Given the description of an element on the screen output the (x, y) to click on. 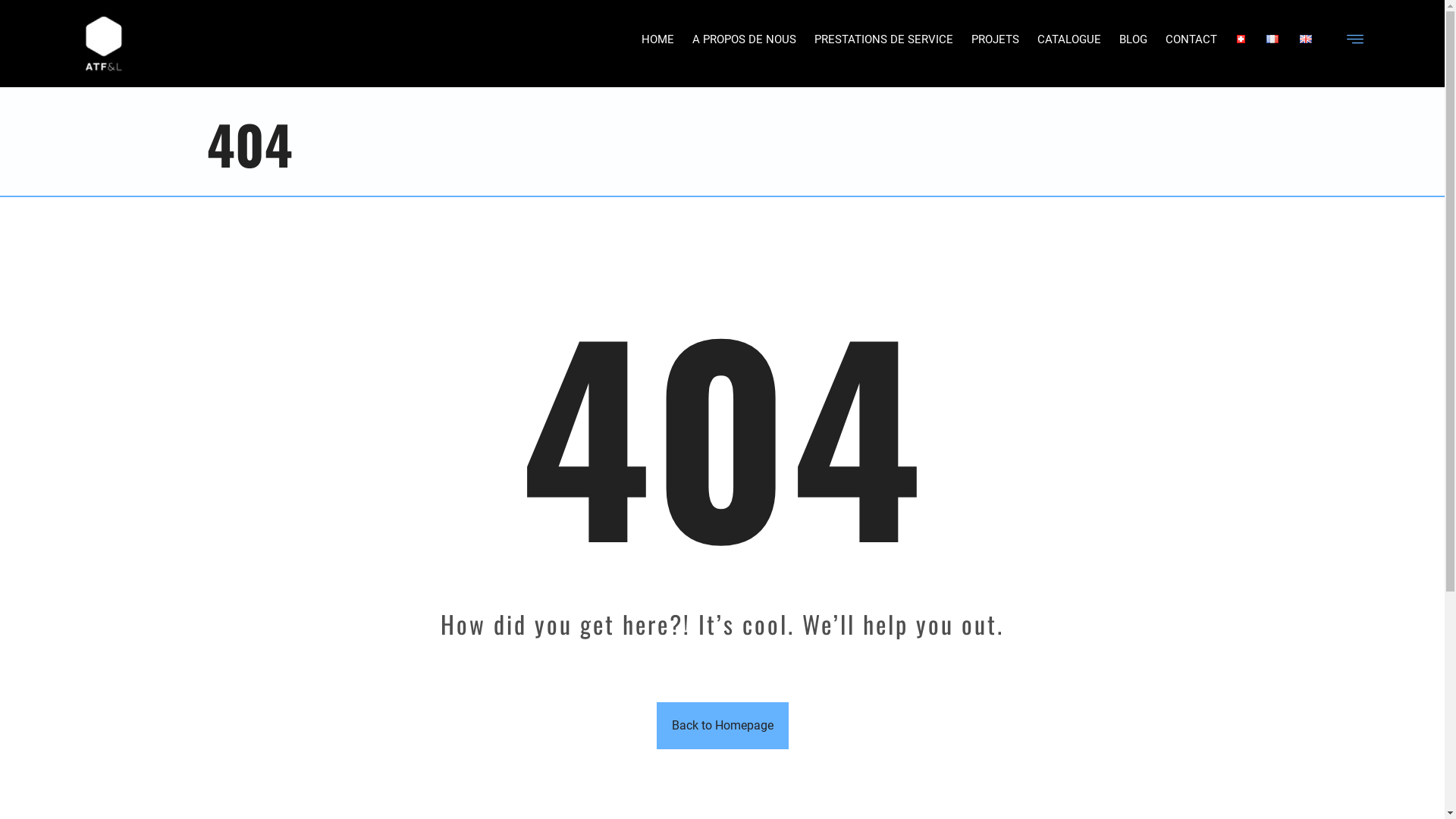
CATALOGUE Element type: text (1068, 34)
Akustik / Bauarbeiten / Versorgung & amp; Logistik Element type: hover (104, 43)
BLOG Element type: text (1132, 34)
PROJETS Element type: text (994, 34)
Back to Homepage Element type: text (722, 725)
A PROPOS DE NOUS Element type: text (743, 34)
CONTACT Element type: text (1191, 34)
HOME Element type: text (657, 34)
PRESTATIONS DE SERVICE Element type: text (883, 34)
